Given the description of an element on the screen output the (x, y) to click on. 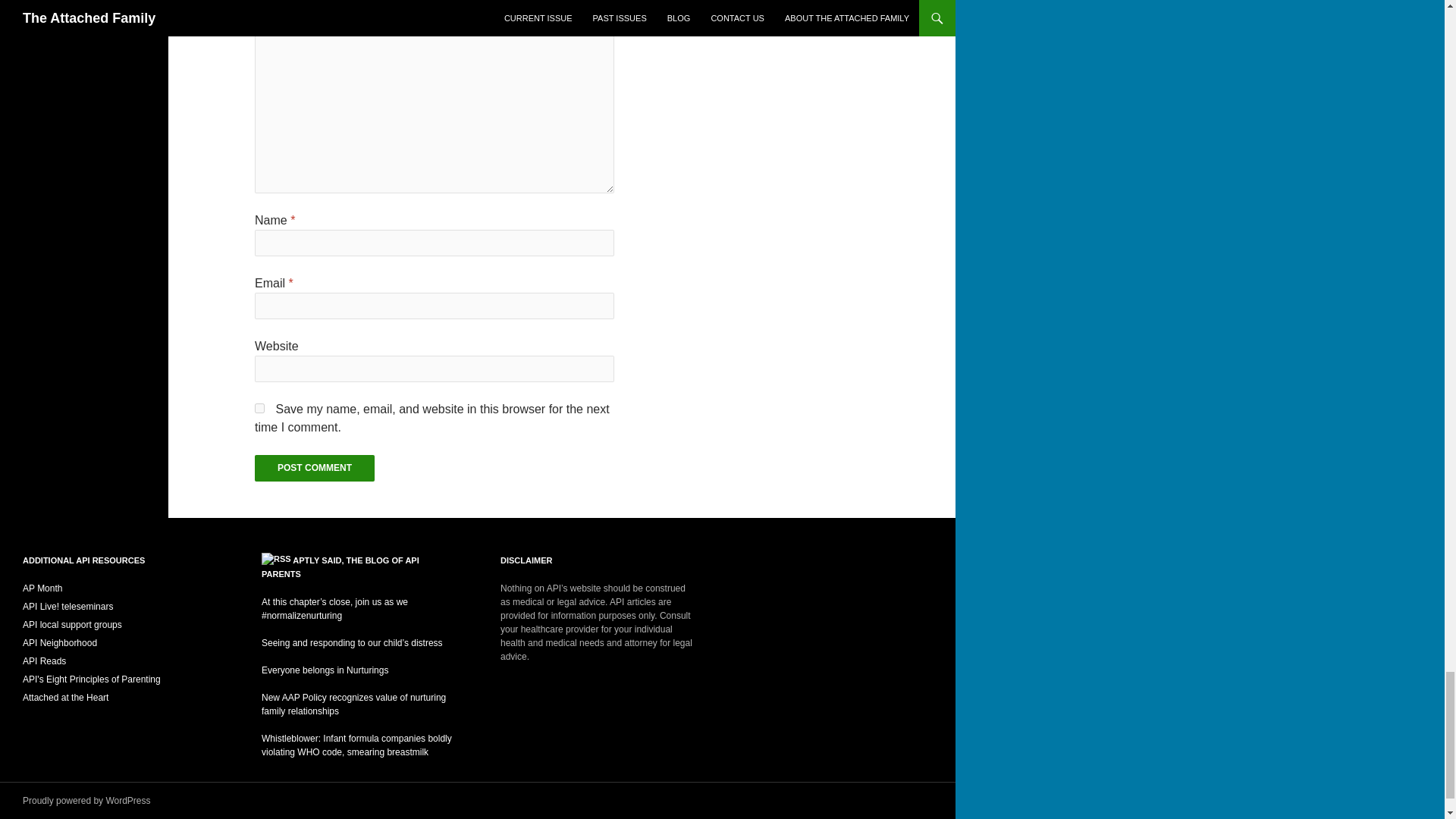
Post Comment (314, 468)
Post Comment (314, 468)
yes (259, 408)
Attachment Parenting Month (42, 588)
API Reads book club (44, 661)
Locate a local parent support group (72, 624)
